Given the description of an element on the screen output the (x, y) to click on. 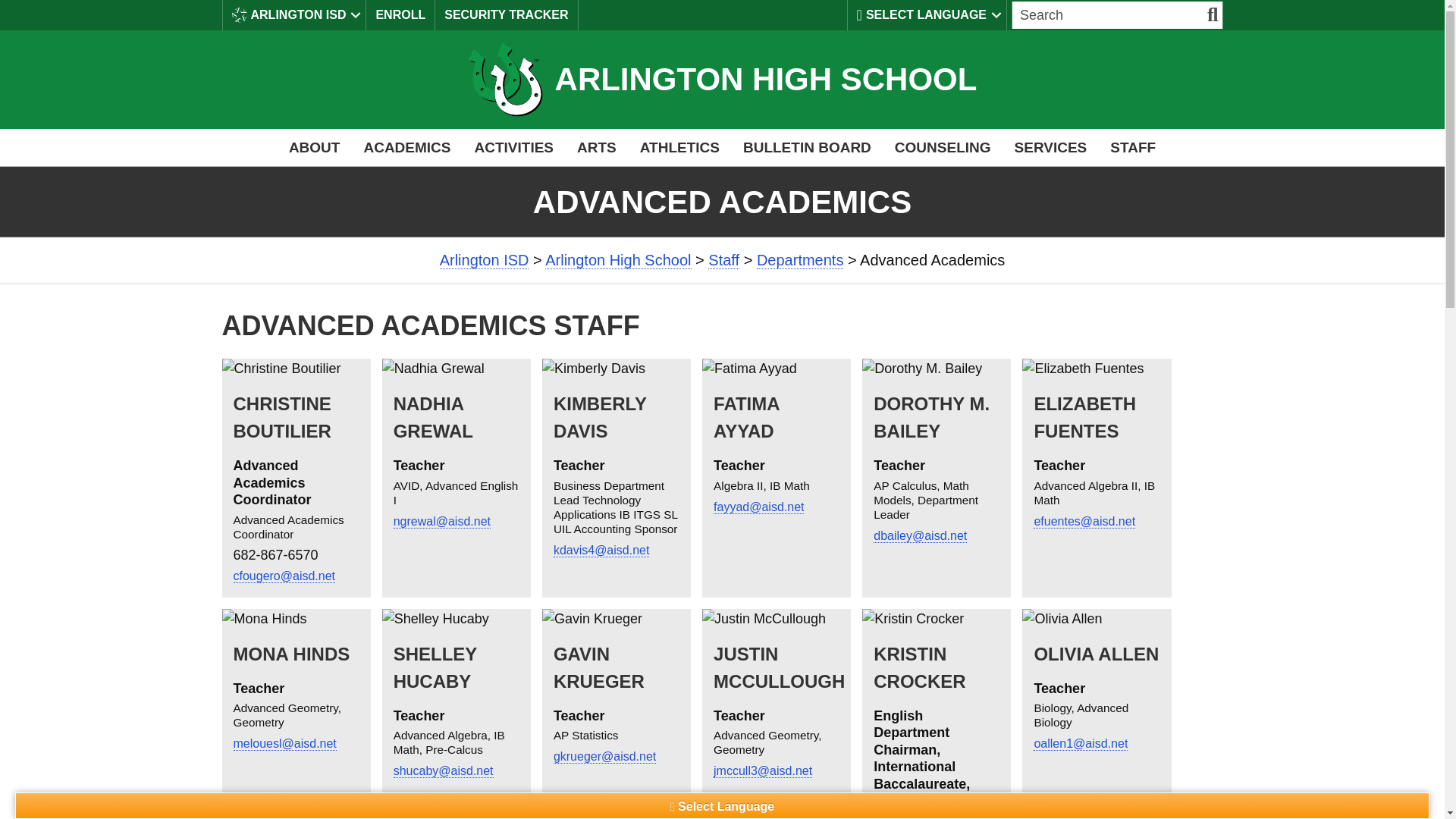
ARLINGTON ISD (294, 15)
Go to Arlington High School. (617, 260)
Go to Staff. (723, 260)
Go to Departments. (800, 260)
SECURITY TRACKER (505, 15)
SELECT LANGUAGE (926, 15)
ENROLL (399, 15)
cropped-AHS-logo.png (505, 79)
Go to Arlington ISD. (484, 260)
